Given the description of an element on the screen output the (x, y) to click on. 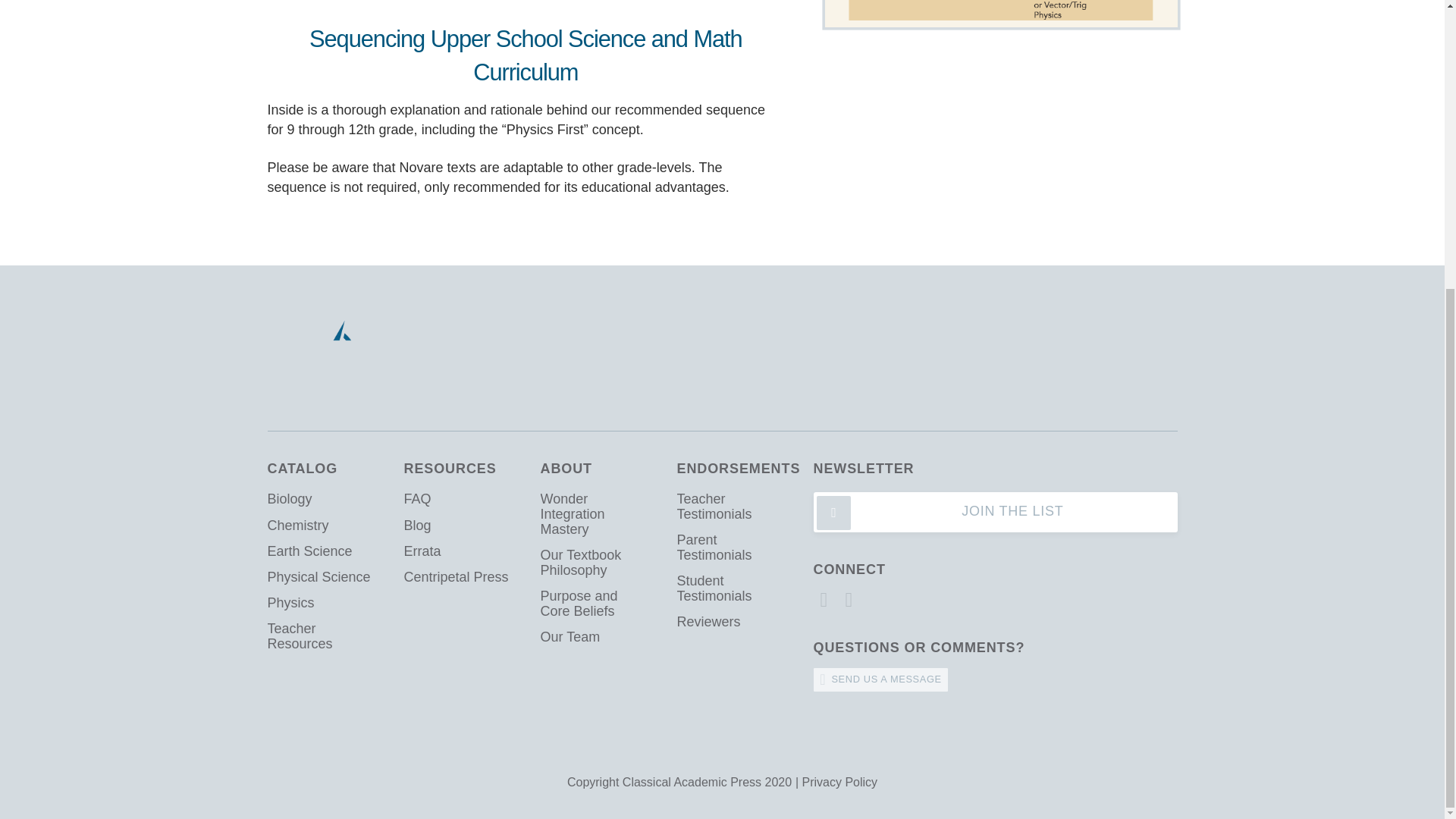
CATALOG (301, 468)
Physical Science (320, 577)
Our Team (594, 637)
Reviewers (731, 622)
Teacher Testimonials (731, 506)
Student Testimonials (731, 588)
ABOUT (566, 468)
Chemistry (320, 525)
Our Textbook Philosophy (594, 562)
Purpose and Core Beliefs (594, 603)
Biology (320, 499)
RESOURCES (449, 468)
Physics (320, 603)
Wonder Integration Mastery (594, 514)
Earth Science (320, 551)
